Given the description of an element on the screen output the (x, y) to click on. 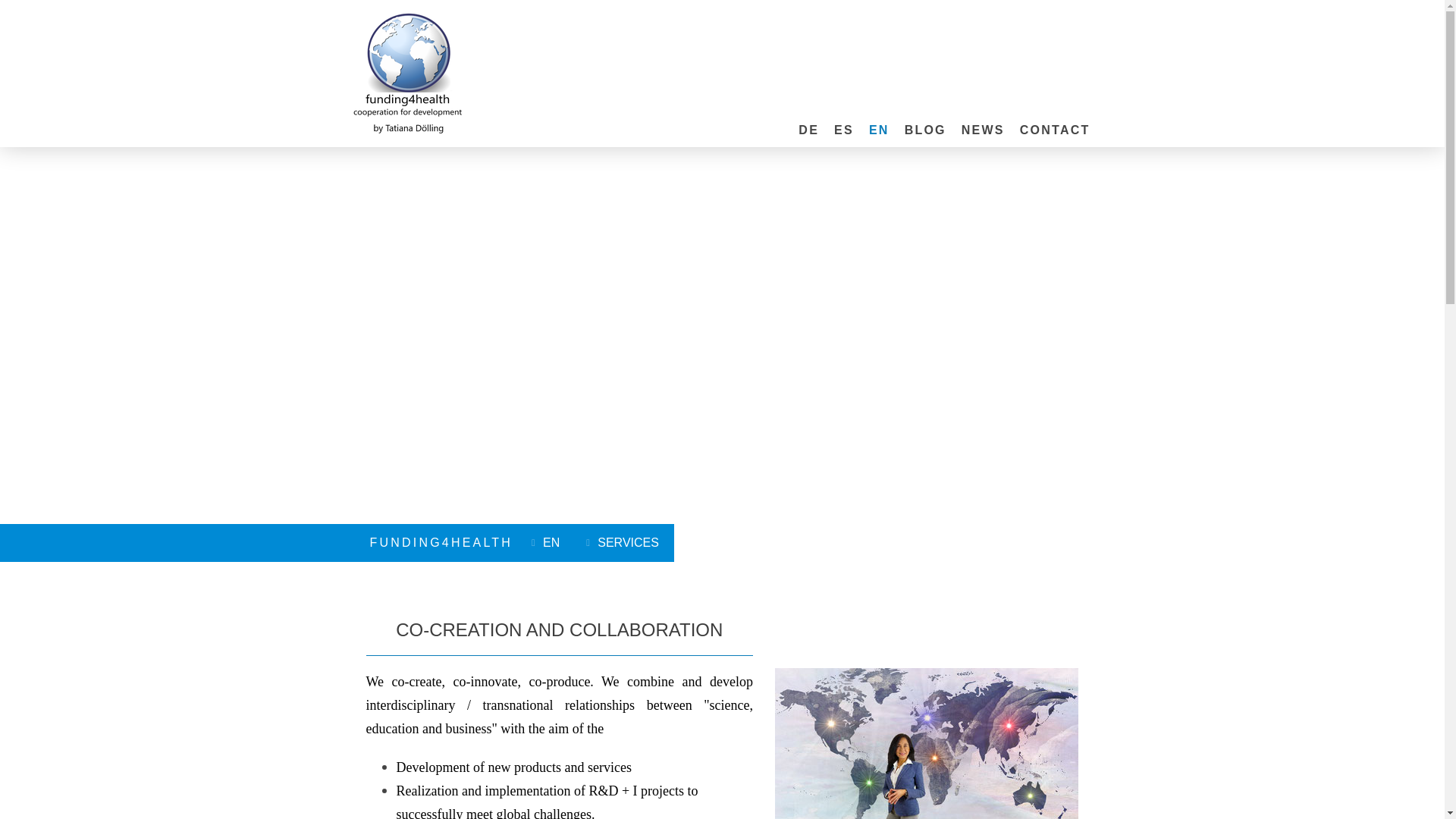
SERVICES (624, 542)
FUNDING4HEALTH (441, 542)
DE (808, 130)
EN (547, 542)
BLOG (924, 130)
EN (878, 130)
CONTACT (1054, 130)
ES (844, 130)
NEWS (982, 130)
